Given the description of an element on the screen output the (x, y) to click on. 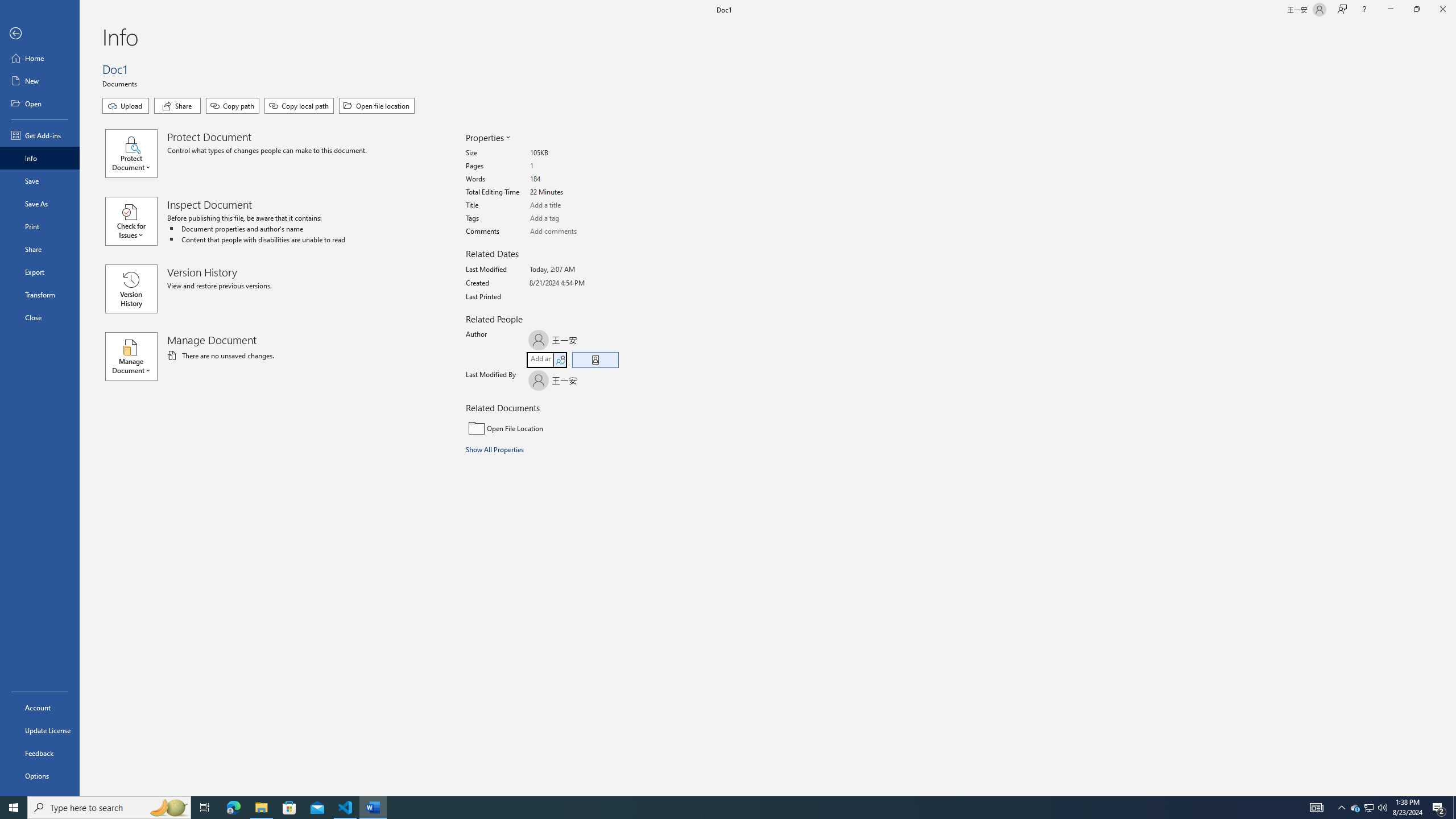
Tags (572, 218)
New (40, 80)
